Given the description of an element on the screen output the (x, y) to click on. 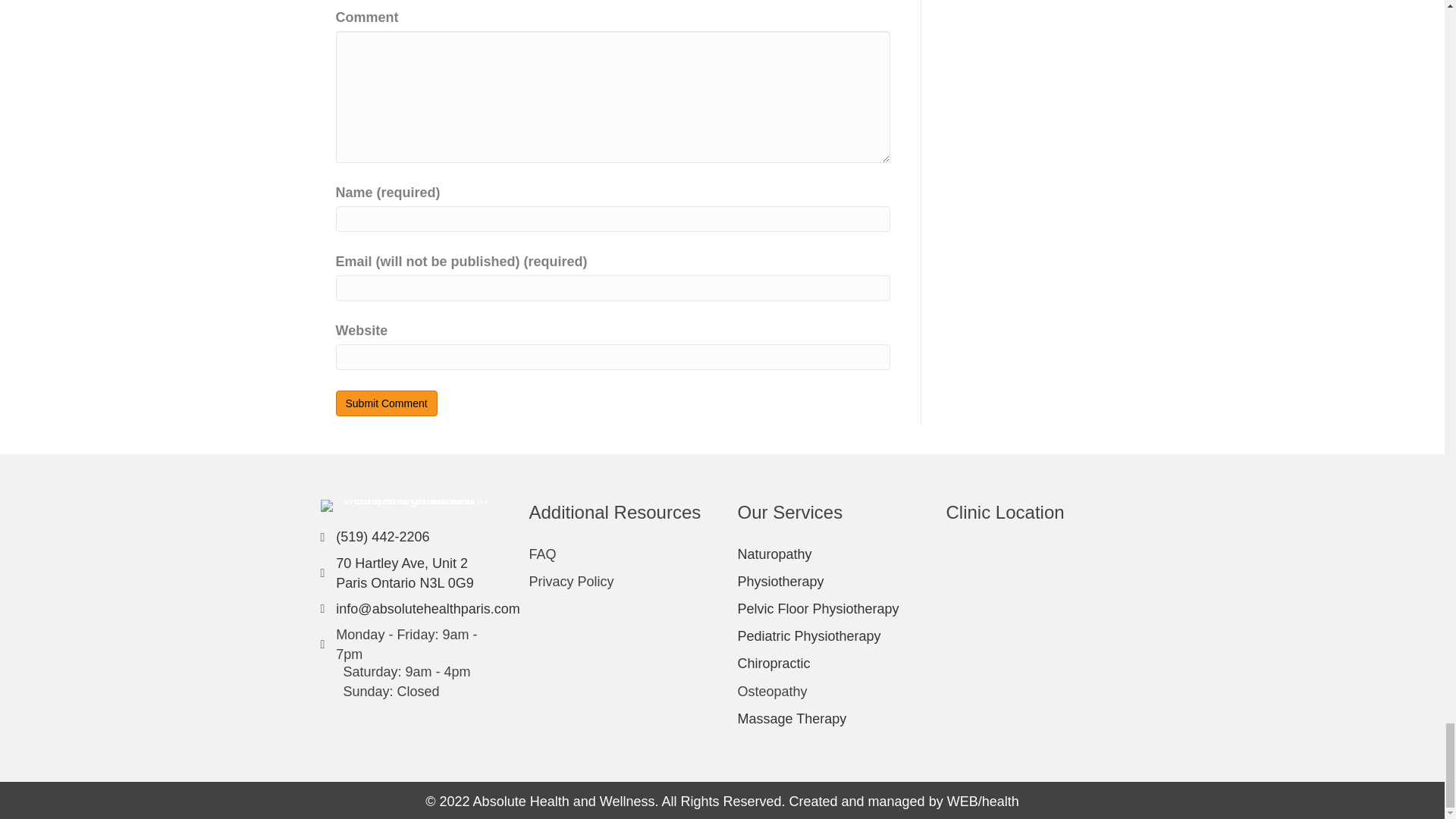
Clinic Location (1035, 615)
Submit Comment (385, 403)
